Given the description of an element on the screen output the (x, y) to click on. 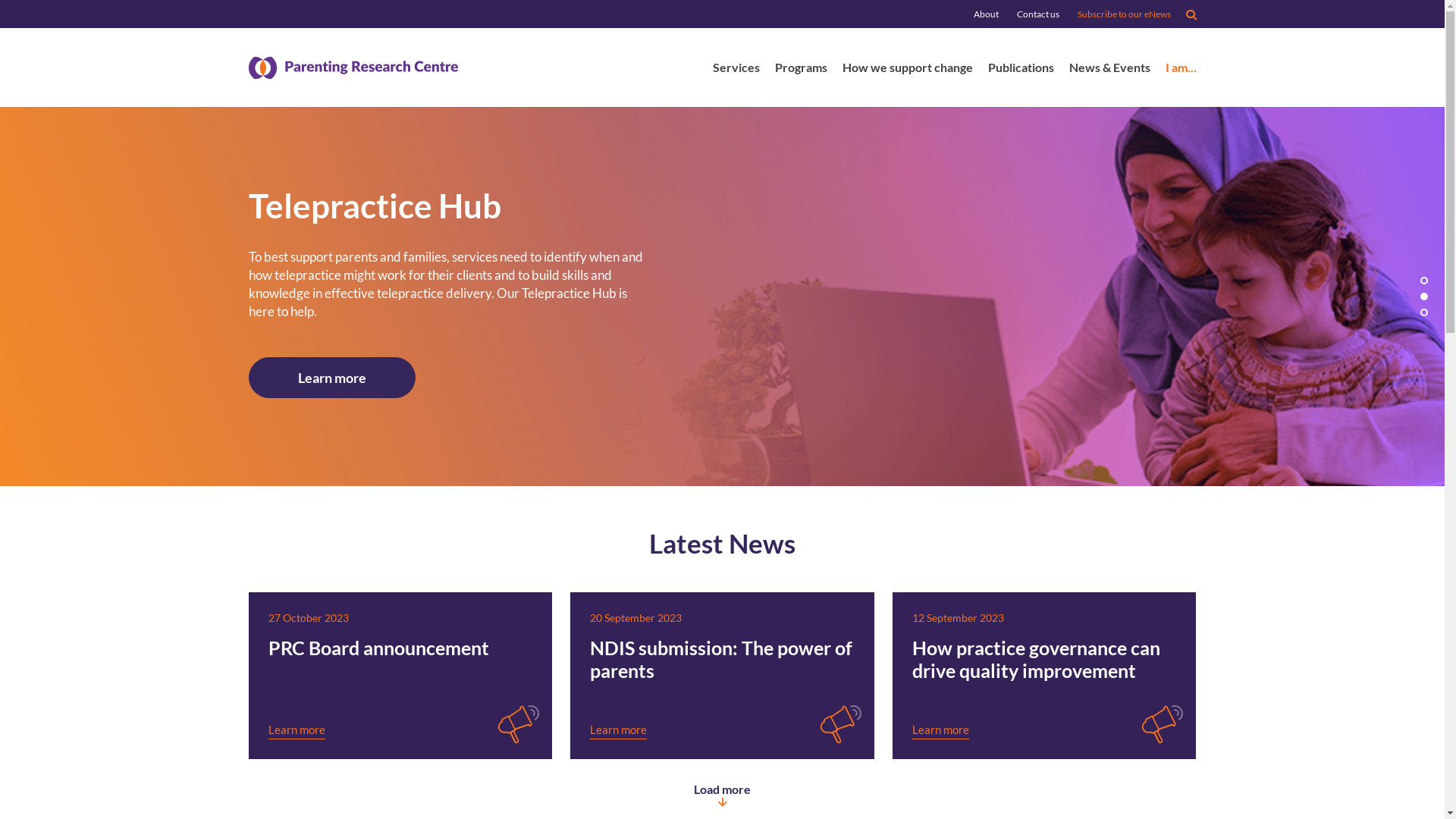
1 Element type: text (1423, 280)
2 Element type: text (1423, 296)
I am... Element type: text (1179, 68)
About Element type: text (985, 13)
Learn more Element type: text (617, 729)
Contact us Element type: text (1037, 13)
Learn more Element type: text (940, 729)
Learn more Element type: text (331, 379)
Subscribe to our eNews Element type: text (1123, 13)
Load more Element type: text (721, 794)
How we support change Element type: text (906, 68)
Learn more Element type: text (296, 729)
Publications Element type: text (1020, 68)
Programs Element type: text (801, 68)
News & Events Element type: text (1109, 68)
3 Element type: text (1423, 312)
Services Element type: text (735, 68)
